Given the description of an element on the screen output the (x, y) to click on. 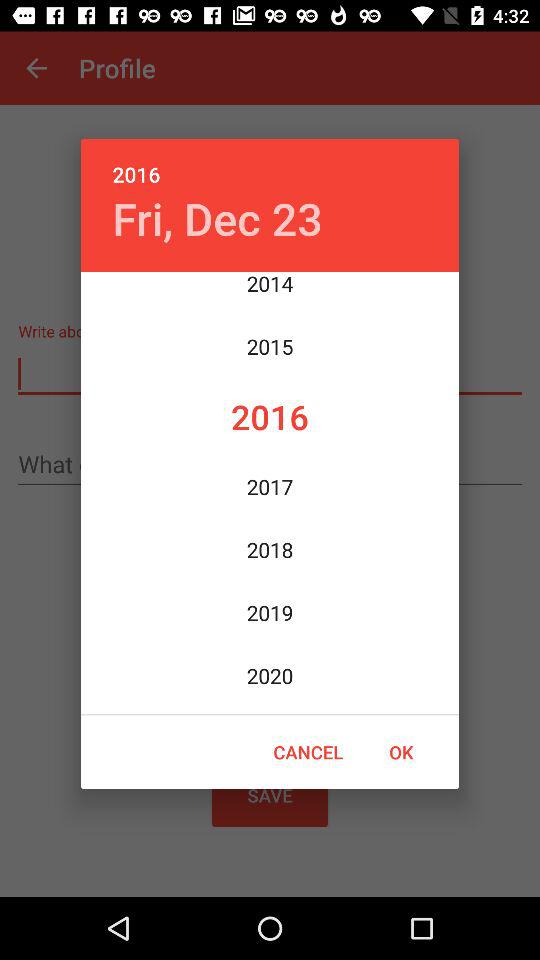
turn on the fri, dec 23 icon (217, 218)
